Given the description of an element on the screen output the (x, y) to click on. 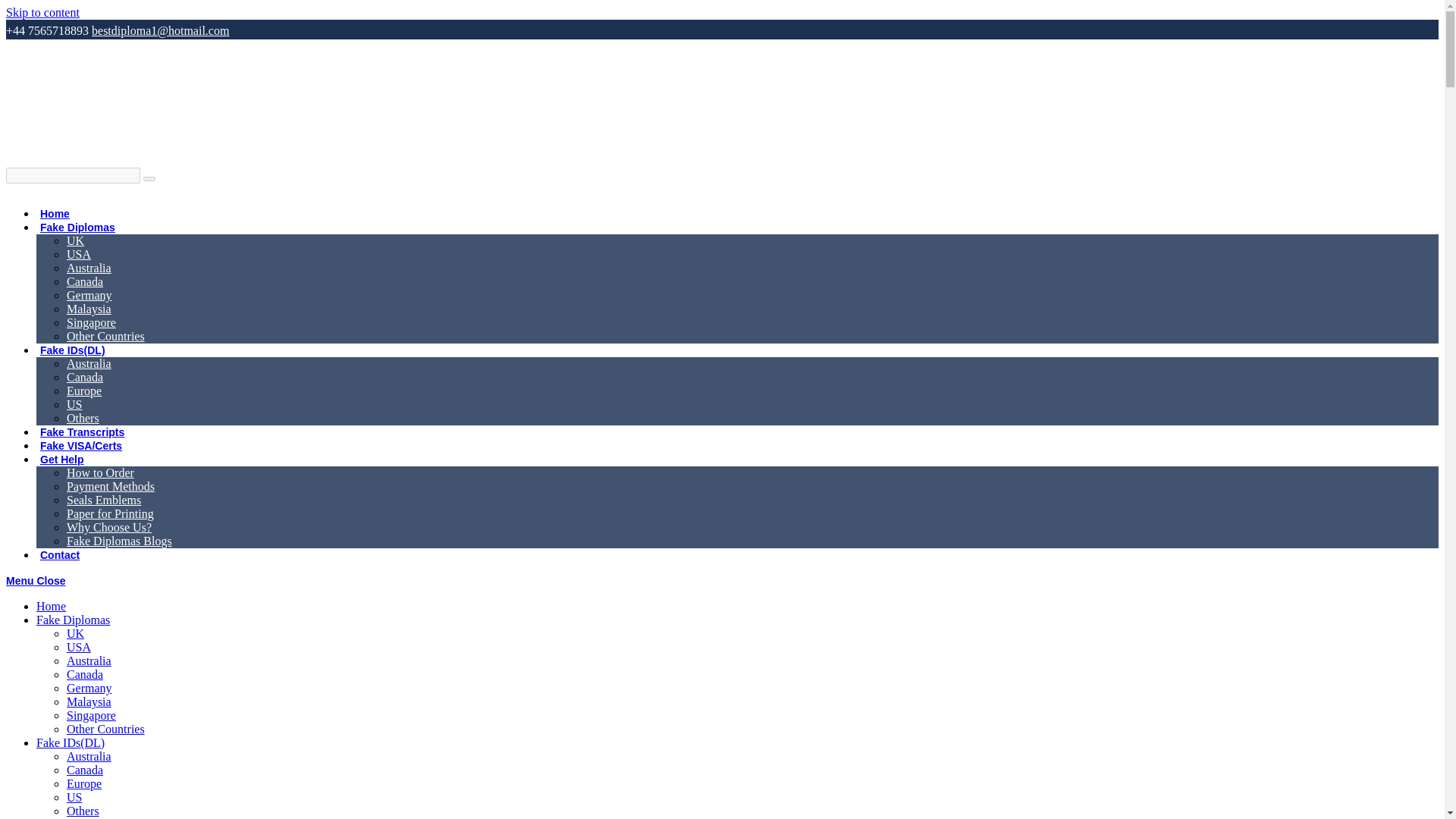
Australia (89, 660)
UK (75, 240)
Singapore (91, 322)
Canada (84, 281)
Home (55, 214)
Canada (84, 377)
Seals Emblems (103, 499)
Payment Methods (110, 486)
UK (75, 633)
How to Order (99, 472)
